Given the description of an element on the screen output the (x, y) to click on. 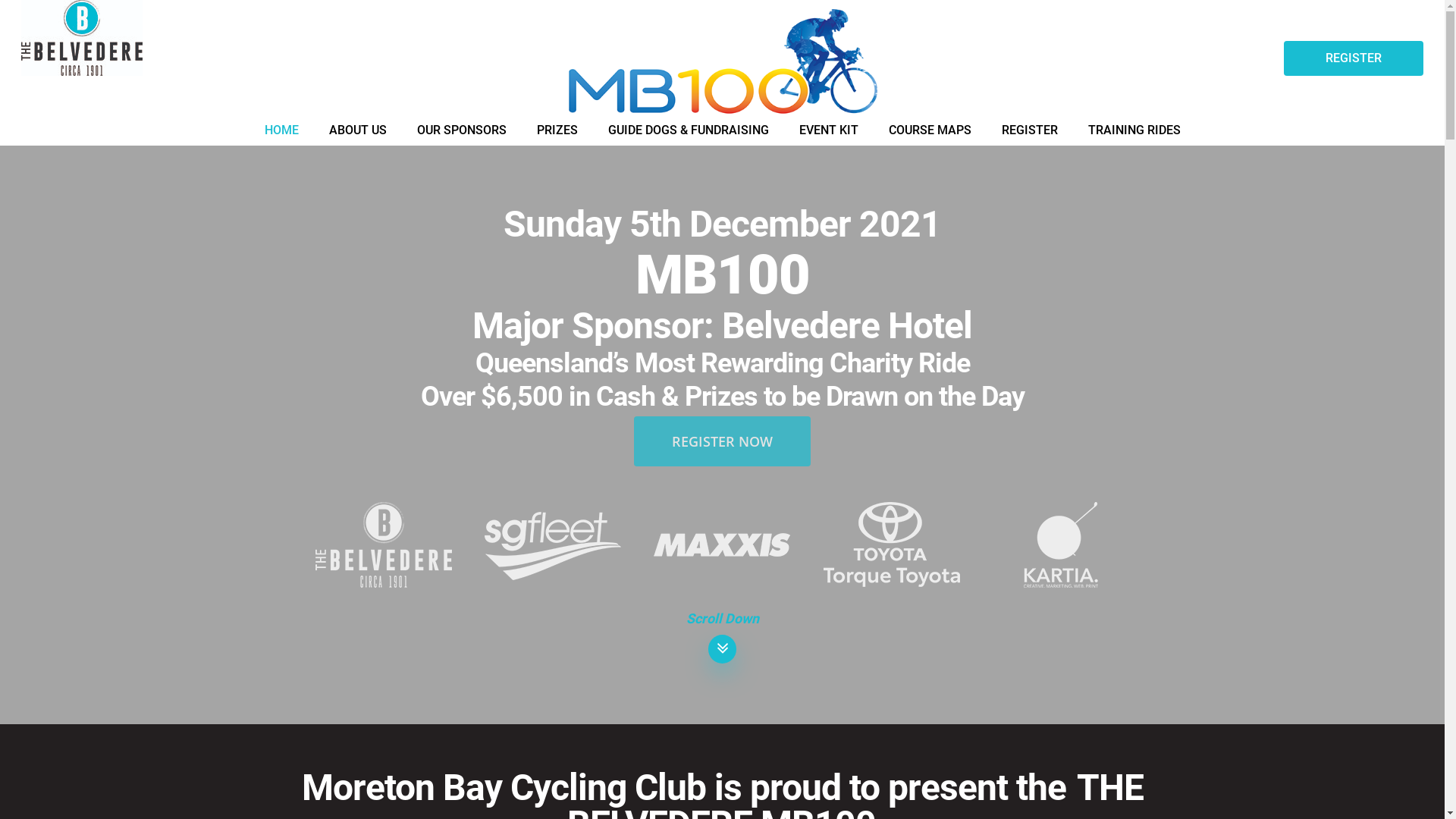
ABOUT US Element type: text (357, 130)
REGISTER HERE Element type: text (929, 497)
PRIZES Element type: text (557, 130)
REGISTER Element type: text (1353, 57)
SBIM Element type: text (315, 795)
HOME Element type: text (280, 130)
instagram Element type: text (1187, 777)
EVENT KIT Element type: text (828, 130)
facebook Element type: text (1161, 777)
REGISTER NOW Element type: text (721, 441)
REGISTER Element type: text (1028, 130)
GUIDE DOGS & FUNDRAISING Element type: text (688, 130)
TRAINING RIDES Element type: text (1133, 130)
OUR SPONSORS Element type: text (461, 130)
COURSE MAPS Element type: text (929, 130)
Moreton Bay Cycling Club Element type: text (395, 778)
